Given the description of an element on the screen output the (x, y) to click on. 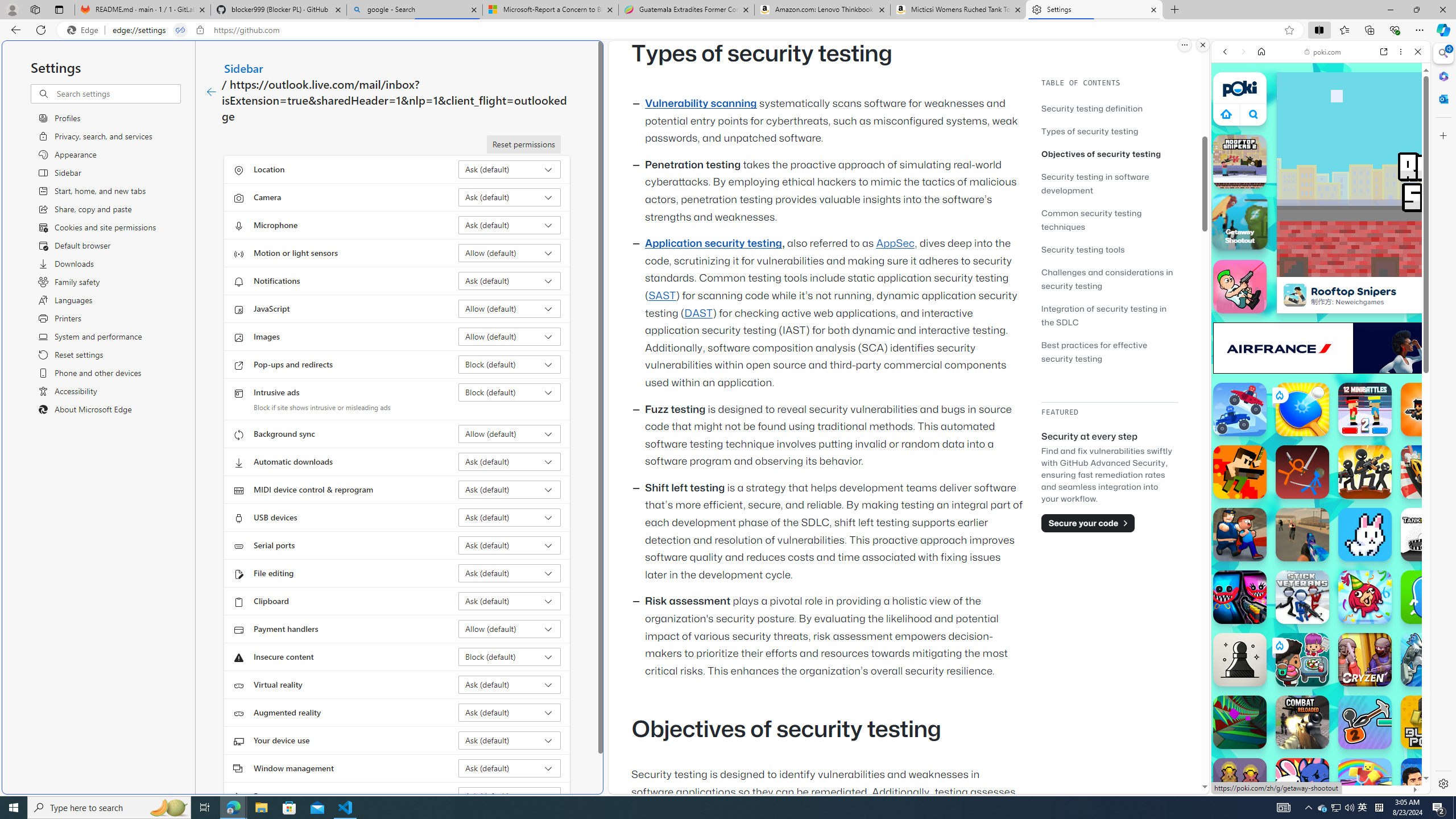
Ping Pong Go! Ping Pong Go! (1302, 409)
Microphone Ask (default) (509, 225)
Combat Reloaded Combat Reloaded (1302, 722)
Shooting Games (1320, 295)
Sports Games (1320, 379)
Poor Bunny Poor Bunny (1364, 534)
Rooftop Snipers 2 (1239, 161)
Tank Trouble Tank Trouble (1427, 534)
Security testing definition (1091, 108)
MIDI device control & reprogram Ask (default) (509, 489)
